Given the description of an element on the screen output the (x, y) to click on. 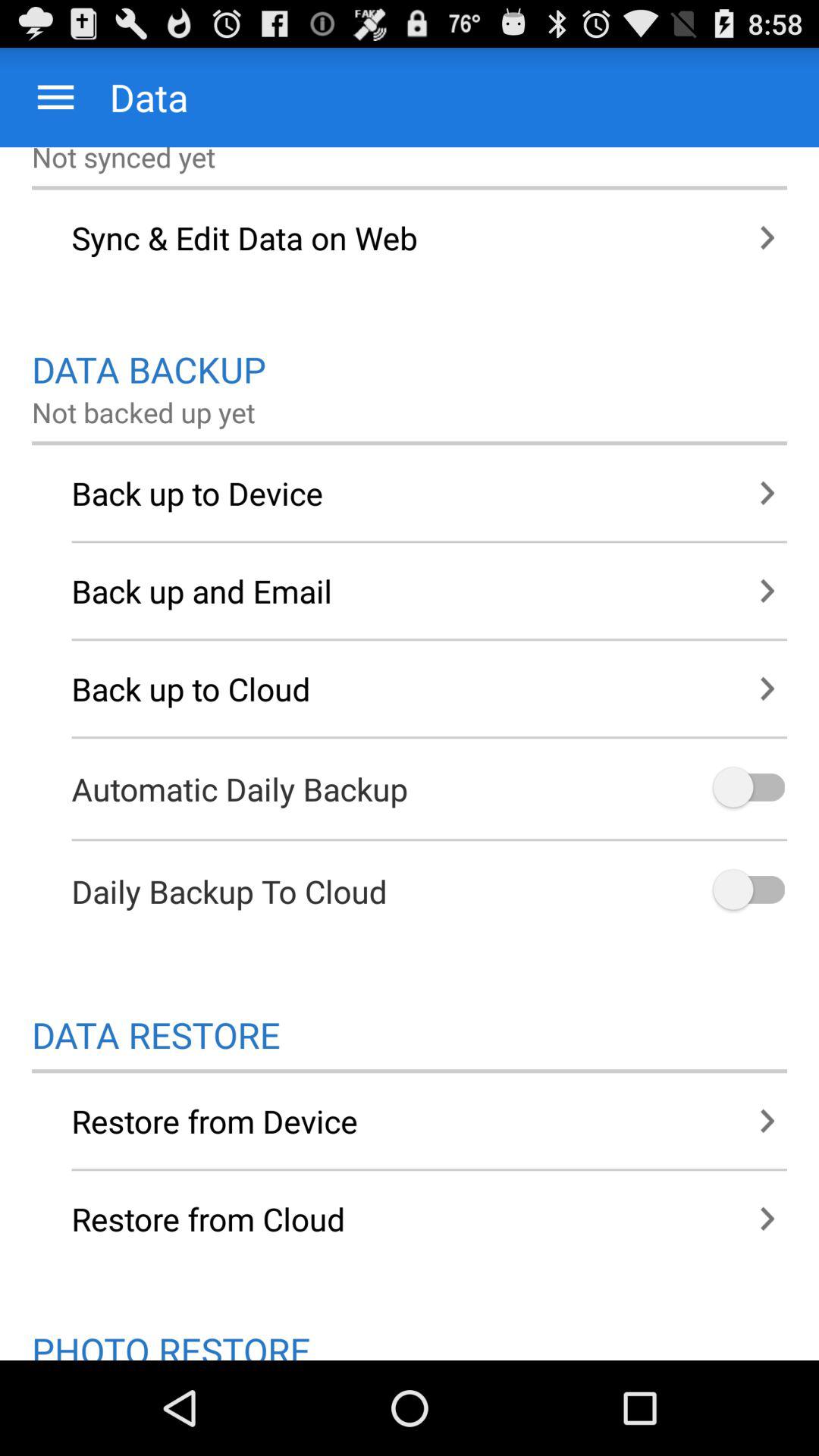
tick automatic daily backup (747, 788)
